Given the description of an element on the screen output the (x, y) to click on. 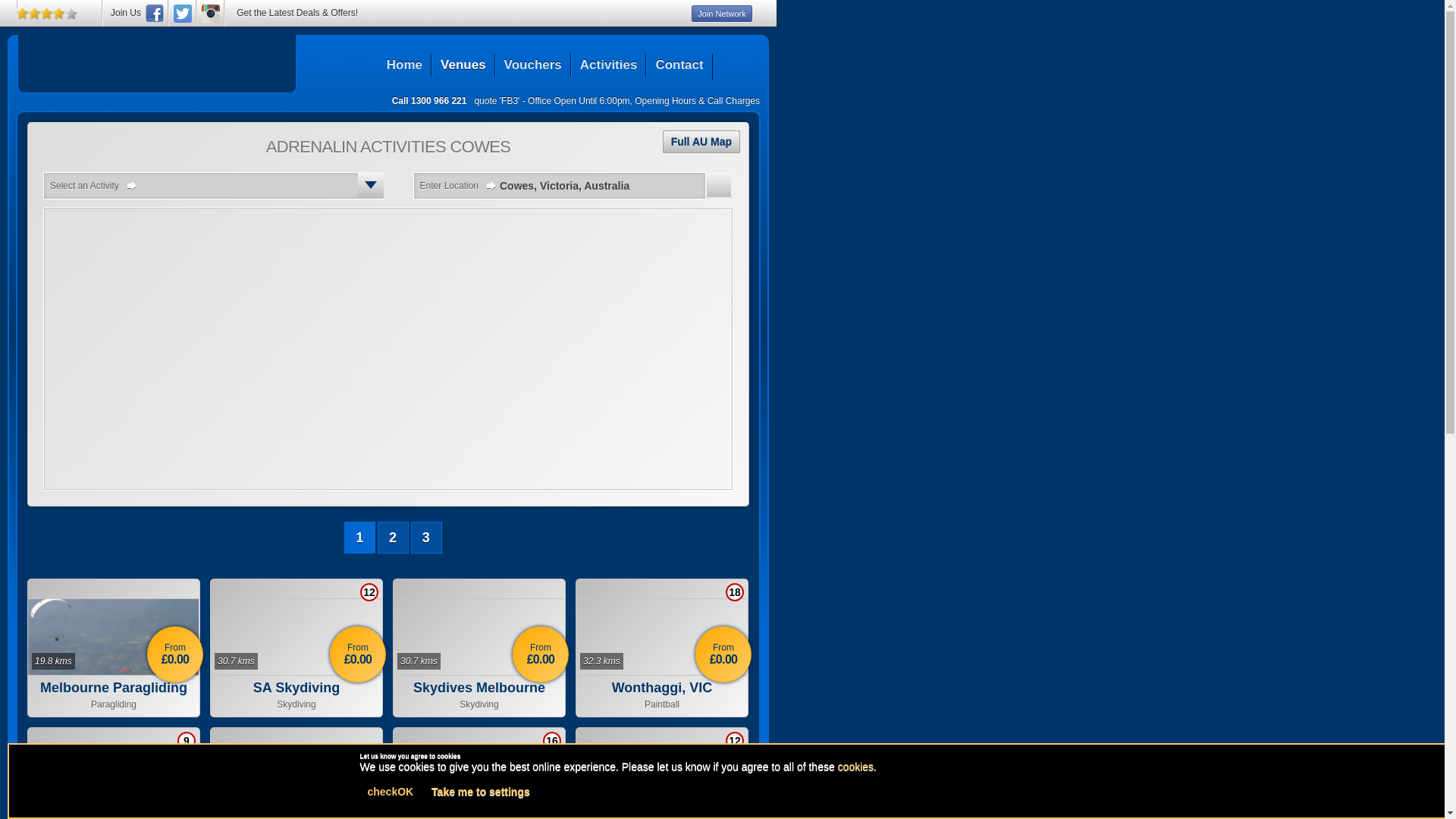
Take me to settings Element type: text (480, 791)
2 Element type: text (392, 537)
Facebook Element type: text (154, 13)
Adrenalin Activities near Cowes Element type: text (156, 59)
3 Element type: text (425, 537)
Venues Element type: text (462, 64)
expand Element type: text (370, 184)
Full AU Map Element type: text (701, 141)
Melbourne Paragliding
Paragliding Element type: text (113, 695)
checkOK Element type: text (390, 791)
Contact Element type: text (678, 64)
Home Element type: text (404, 64)
Twitter Element type: text (182, 13)
Vouchers Element type: text (532, 64)
SA Skydiving
Skydiving Element type: text (296, 695)
Instagram Element type: text (210, 13)
cookies Element type: text (855, 766)
Wonthaggi, VIC
Paintball Element type: text (661, 695)
Opening Hours & Call Charges Element type: text (696, 100)
1 Element type: text (359, 537)
Activities Element type: text (608, 64)
Skydives Melbourne
Skydiving Element type: text (479, 695)
Join Network Element type: text (721, 13)
